Given the description of an element on the screen output the (x, y) to click on. 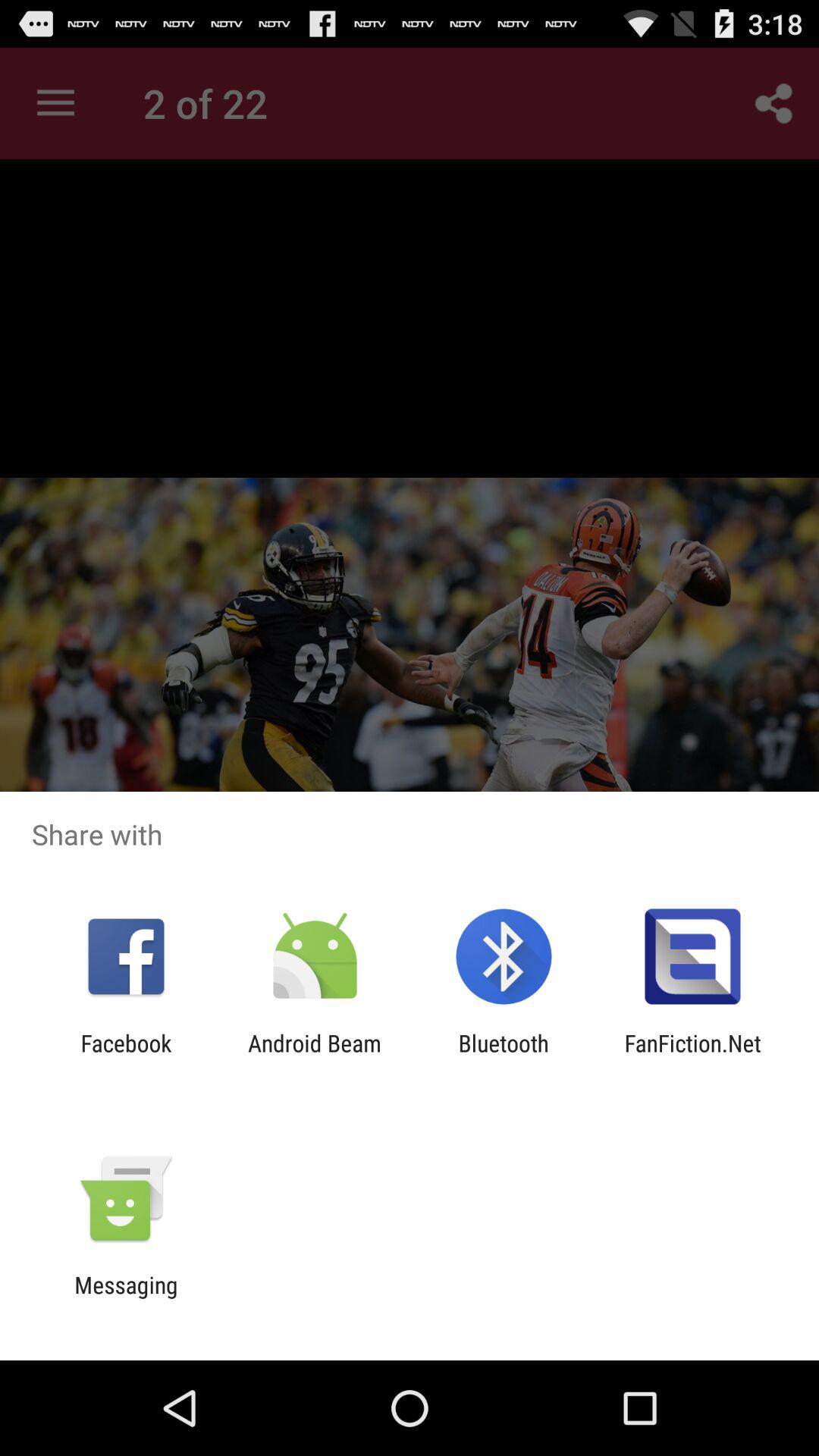
jump until the bluetooth icon (503, 1056)
